Given the description of an element on the screen output the (x, y) to click on. 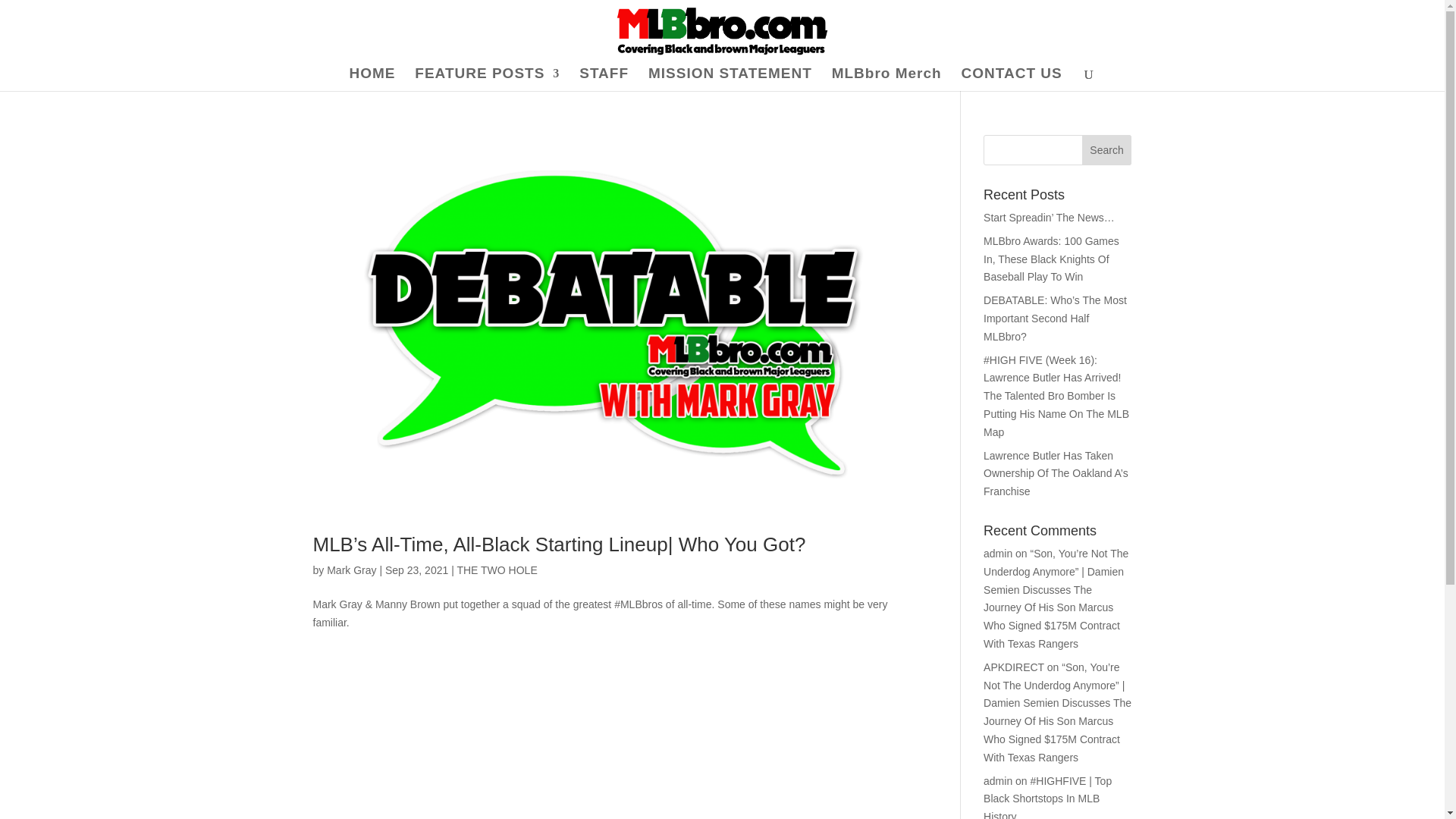
Search (1106, 150)
admin (997, 553)
THE TWO HOLE (497, 570)
APKDIRECT (1013, 666)
Mark Gray (350, 570)
MISSION STATEMENT (729, 78)
HOME (371, 78)
FEATURE POSTS (486, 78)
STAFF (603, 78)
Search (1106, 150)
Posts by Mark Gray (350, 570)
MLBbro Merch (886, 78)
admin (997, 780)
CONTACT US (1011, 78)
